Given the description of an element on the screen output the (x, y) to click on. 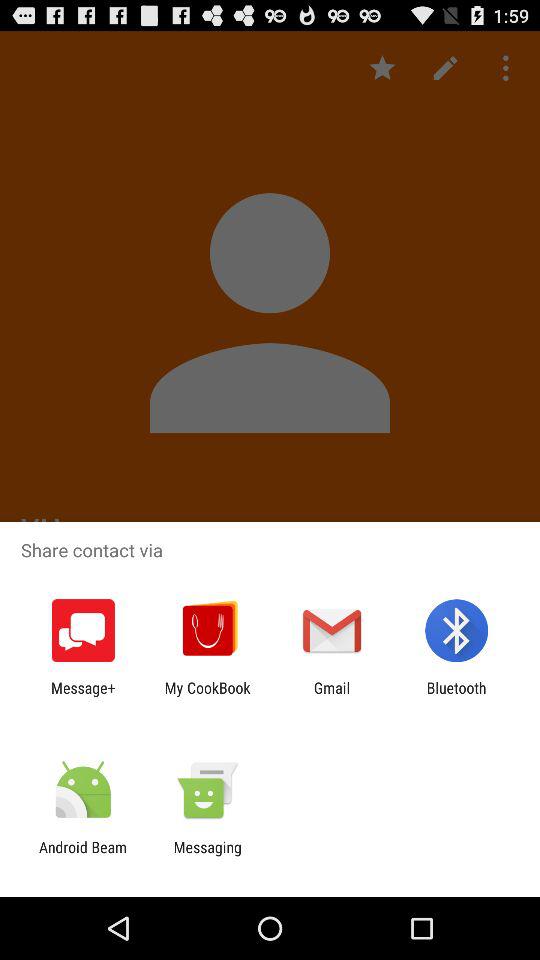
swipe until the android beam (83, 856)
